Given the description of an element on the screen output the (x, y) to click on. 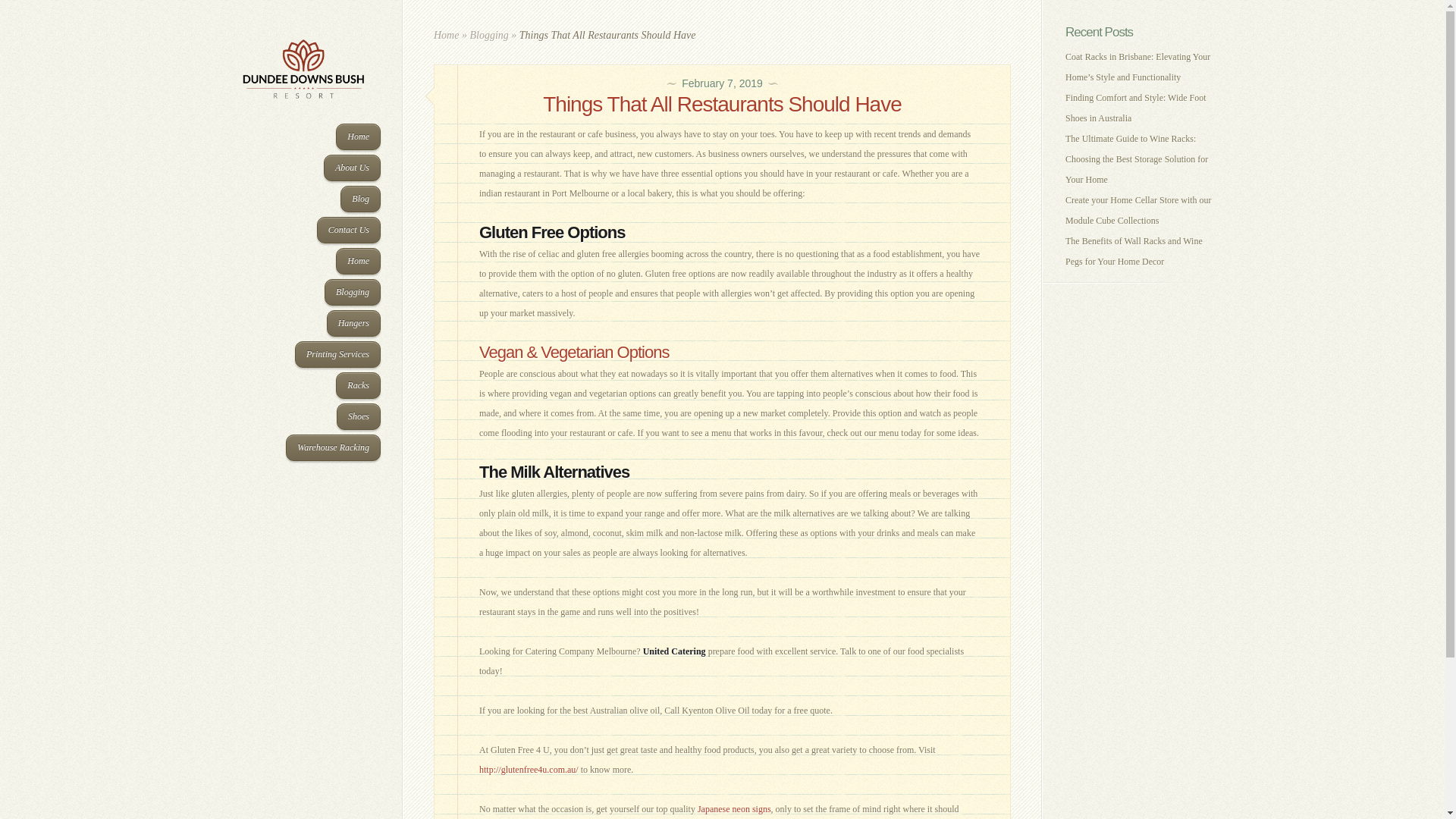
Hangers Element type: text (353, 323)
Blog Element type: text (360, 198)
http://glutenfree4u.com.au/ Element type: text (528, 769)
Home Element type: text (445, 34)
Japanese neon signs Element type: text (734, 808)
Blogging Element type: text (488, 34)
Blogging Element type: text (352, 292)
The Benefits of Wall Racks and Wine Pegs for Your Home Decor Element type: text (1133, 250)
Contact Us Element type: text (348, 229)
Printing Services Element type: text (337, 354)
Finding Comfort and Style: Wide Foot Shoes in Australia Element type: text (1135, 107)
Home Element type: text (357, 260)
Warehouse Racking Element type: text (332, 447)
Racks Element type: text (357, 385)
Shoes Element type: text (358, 416)
Home Element type: text (357, 136)
About Us Element type: text (351, 167)
